Given the description of an element on the screen output the (x, y) to click on. 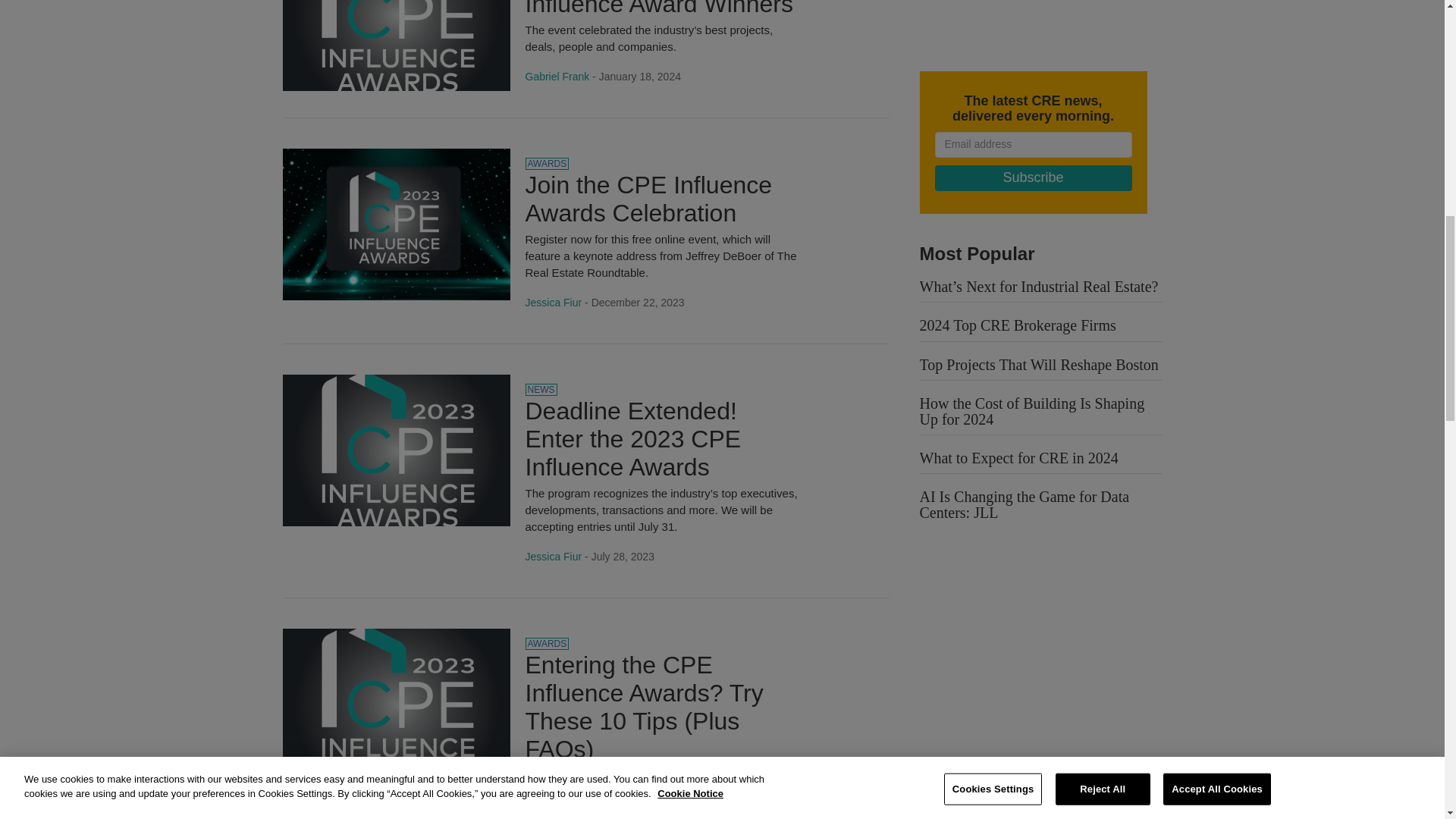
Join the CPE Influence Awards Celebration (395, 223)
Join the CPE Influence Awards Celebration (647, 198)
CPE Announces 2023 Influence Award Winners (658, 8)
CPE Announces 2023 Influence Award Winners (395, 14)
Deadline Extended! Enter the 2023 CPE Influence Awards (632, 438)
Deadline Extended! Enter the 2023 CPE Influence Awards (395, 449)
